Given the description of an element on the screen output the (x, y) to click on. 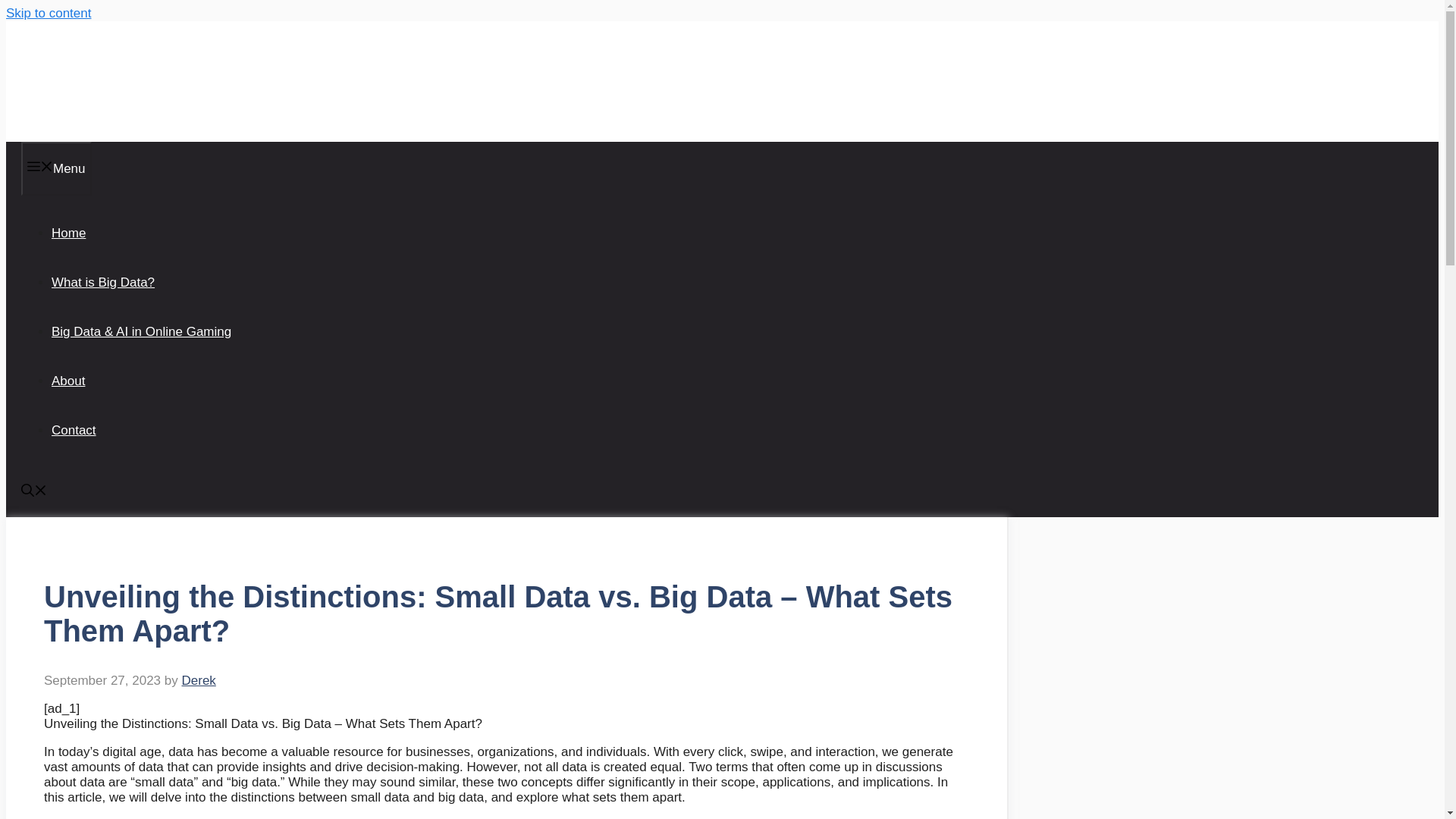
Skip to content (47, 12)
What is Big Data? (102, 282)
View all posts by Derek (197, 680)
Home (67, 233)
Contact (73, 430)
Skip to content (47, 12)
Byte-project.eu (99, 80)
Menu (56, 168)
Derek (197, 680)
About (67, 380)
